Given the description of an element on the screen output the (x, y) to click on. 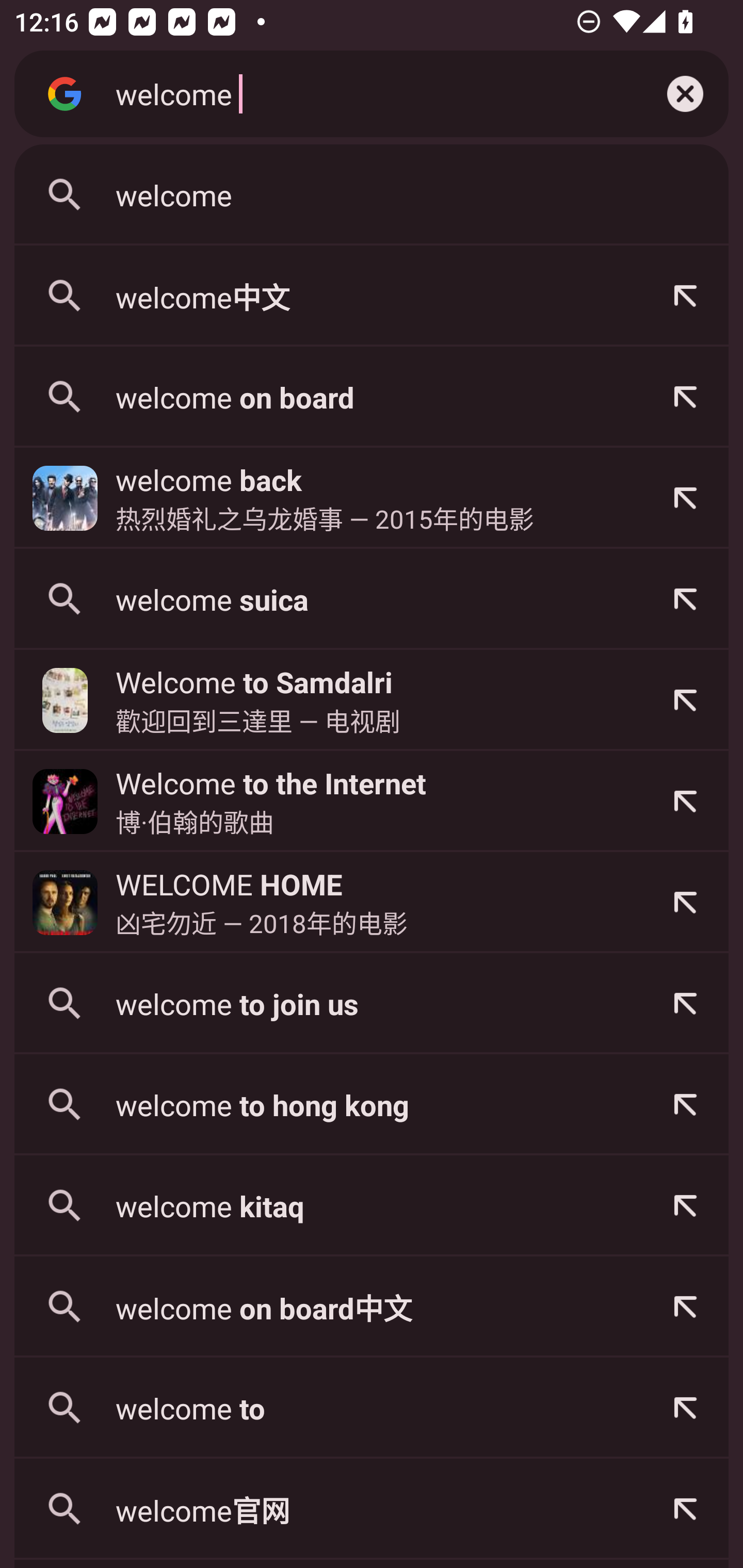
Clear input (684, 93)
welcome  (367, 92)
welcome (371, 195)
welcome中文 Refine: welcome中文 (371, 296)
Refine: welcome中文 (684, 296)
welcome on board Refine: welcome on board (371, 397)
Refine: welcome on board (684, 397)
Refine: welcome back (684, 498)
welcome suica Refine: welcome suica (371, 598)
Refine: welcome suica (684, 598)
Refine: welcome to samdalri (684, 700)
Refine: welcome to the internet (684, 801)
WELCOME HOME 凶宅勿近 — 2018年的电影 Refine: welcome home (371, 902)
Refine: welcome home (684, 902)
welcome to join us Refine: welcome to join us (371, 1003)
Refine: welcome to join us (684, 1003)
welcome to hong kong Refine: welcome to hong kong (371, 1104)
Refine: welcome to hong kong (684, 1104)
welcome kitaq Refine: welcome kitaq (371, 1205)
Refine: welcome kitaq (684, 1205)
welcome on board中文 Refine: welcome on board中文 (371, 1306)
Refine: welcome on board中文 (684, 1306)
welcome to Refine: welcome to (371, 1407)
Refine: welcome to (684, 1407)
welcome官网 Refine: welcome官网 (371, 1509)
Refine: welcome官网 (684, 1509)
